Given the description of an element on the screen output the (x, y) to click on. 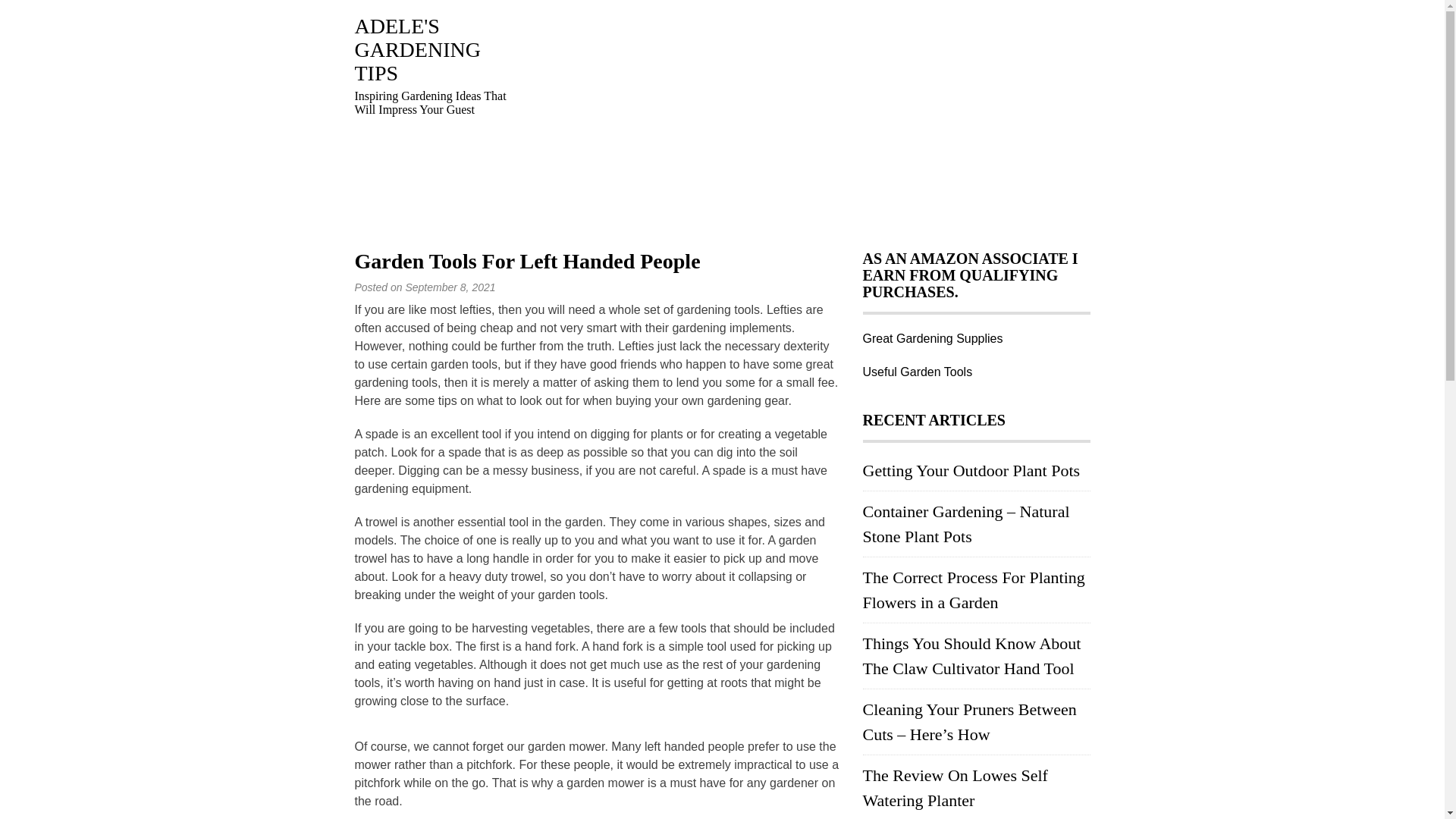
Advertisement (809, 121)
Great Gardening Supplies (933, 338)
Inspiring Gardening Ideas That Will Impress Your Guest (417, 49)
Things You Should Know About The Claw Cultivator Hand Tool (972, 655)
ADELE'S GARDENING TIPS (417, 49)
September 8, 2021 (449, 287)
The Correct Process For Planting Flowers in a Garden (973, 589)
Useful Garden Tools (917, 371)
The Review On Lowes Self Watering Planter (955, 787)
Getting Your Outdoor Plant Pots (971, 470)
